Given the description of an element on the screen output the (x, y) to click on. 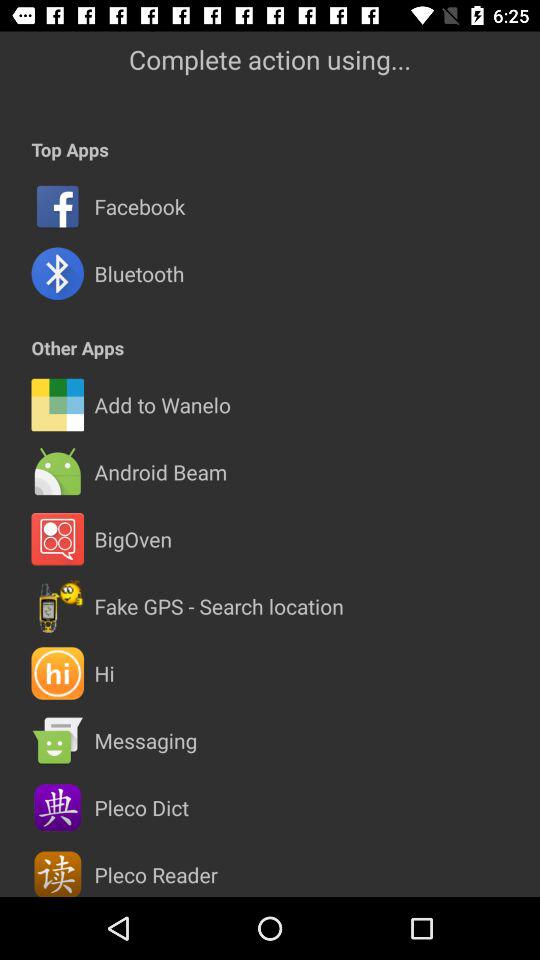
open icon below the other apps icon (270, 371)
